Given the description of an element on the screen output the (x, y) to click on. 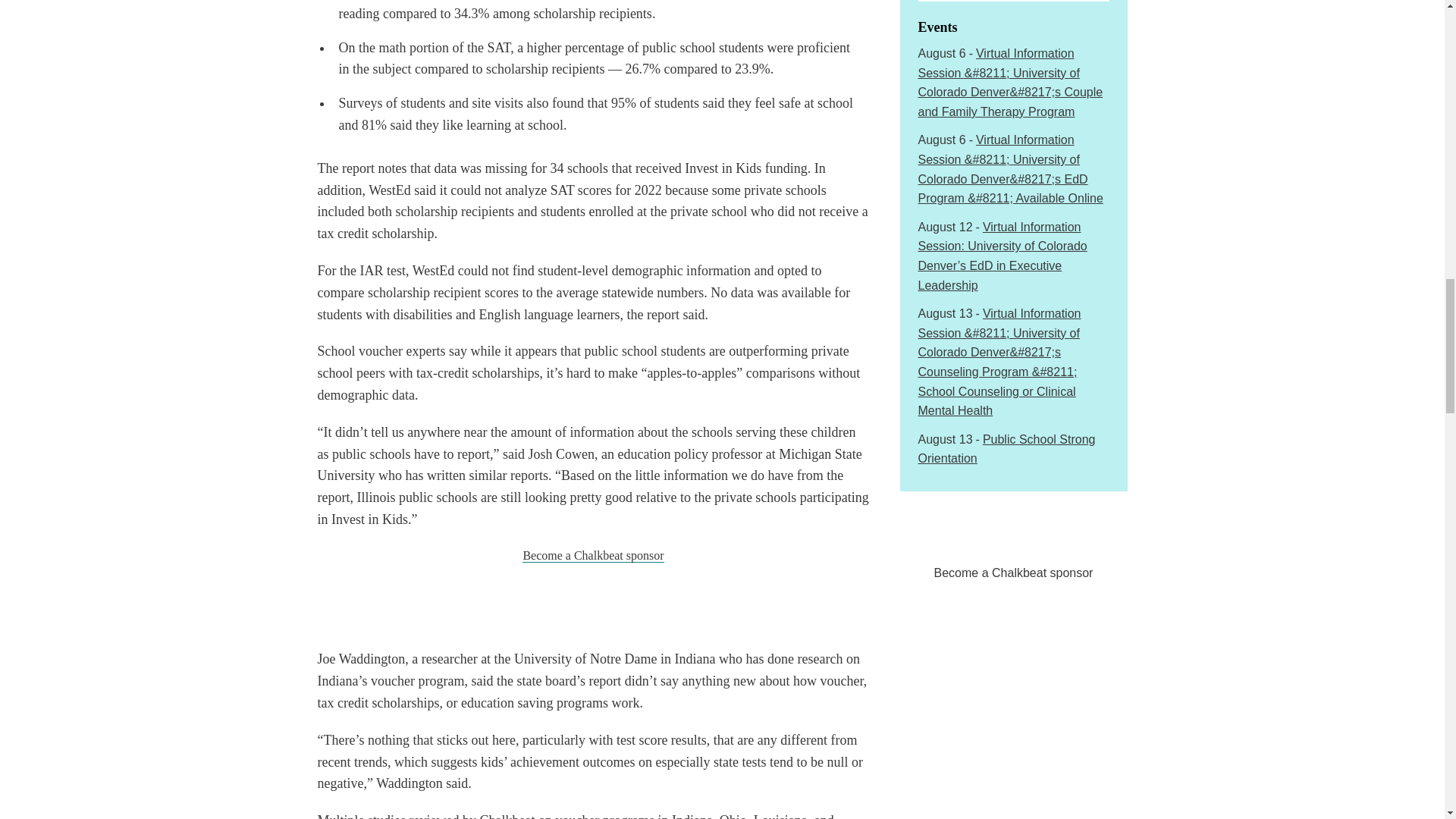
Become a Chalkbeat sponsor (592, 555)
Multiple studies reviewed by Chalkbeat (425, 816)
